Given the description of an element on the screen output the (x, y) to click on. 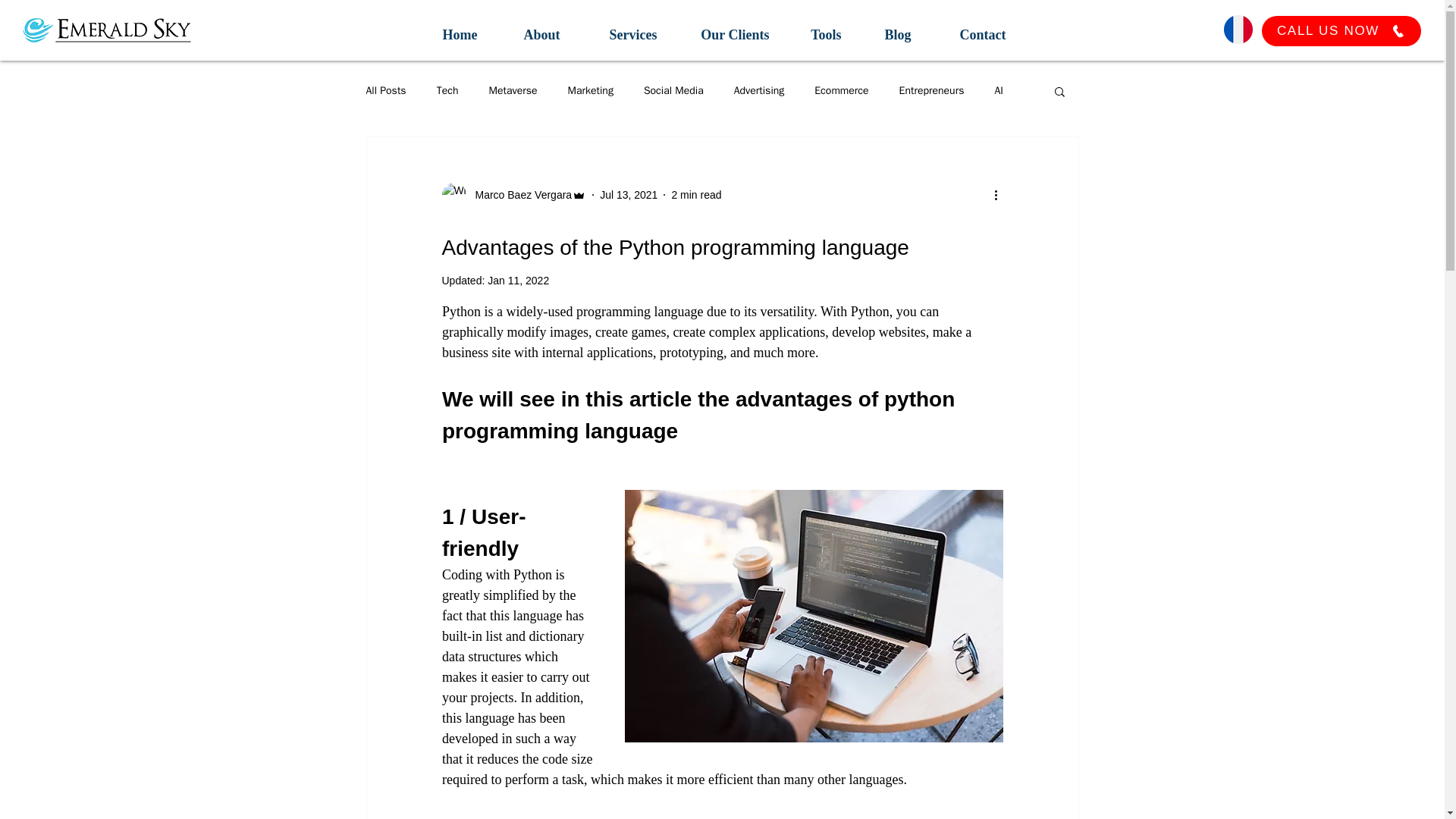
Home (453, 28)
Marco Baez Vergara (518, 194)
Blog (893, 28)
Tech (447, 90)
Entrepreneurs (931, 90)
Metaverse (512, 90)
CALL US NOW (1341, 30)
Our Clients (731, 28)
Marketing (589, 90)
Ecommerce (840, 90)
Jan 11, 2022 (517, 280)
Services (626, 28)
Social Media (673, 90)
Advertising (758, 90)
All Posts (385, 90)
